Given the description of an element on the screen output the (x, y) to click on. 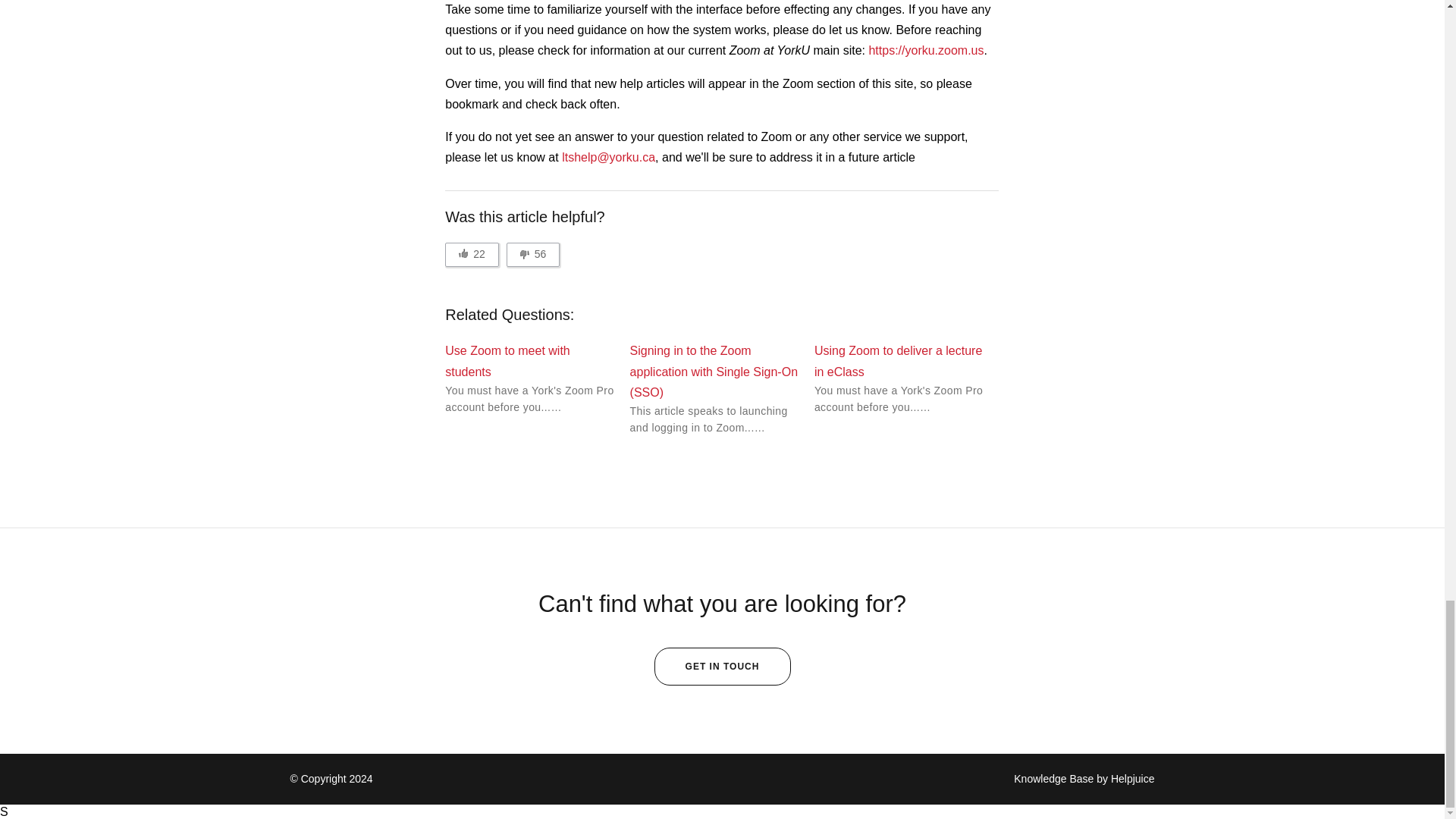
Use Zoom to meet with students (507, 360)
Knowledge Base (1053, 778)
GET IN TOUCH (721, 666)
Using Zoom to deliver a lecture in eClass (897, 360)
56 (533, 254)
22 (472, 254)
